Given the description of an element on the screen output the (x, y) to click on. 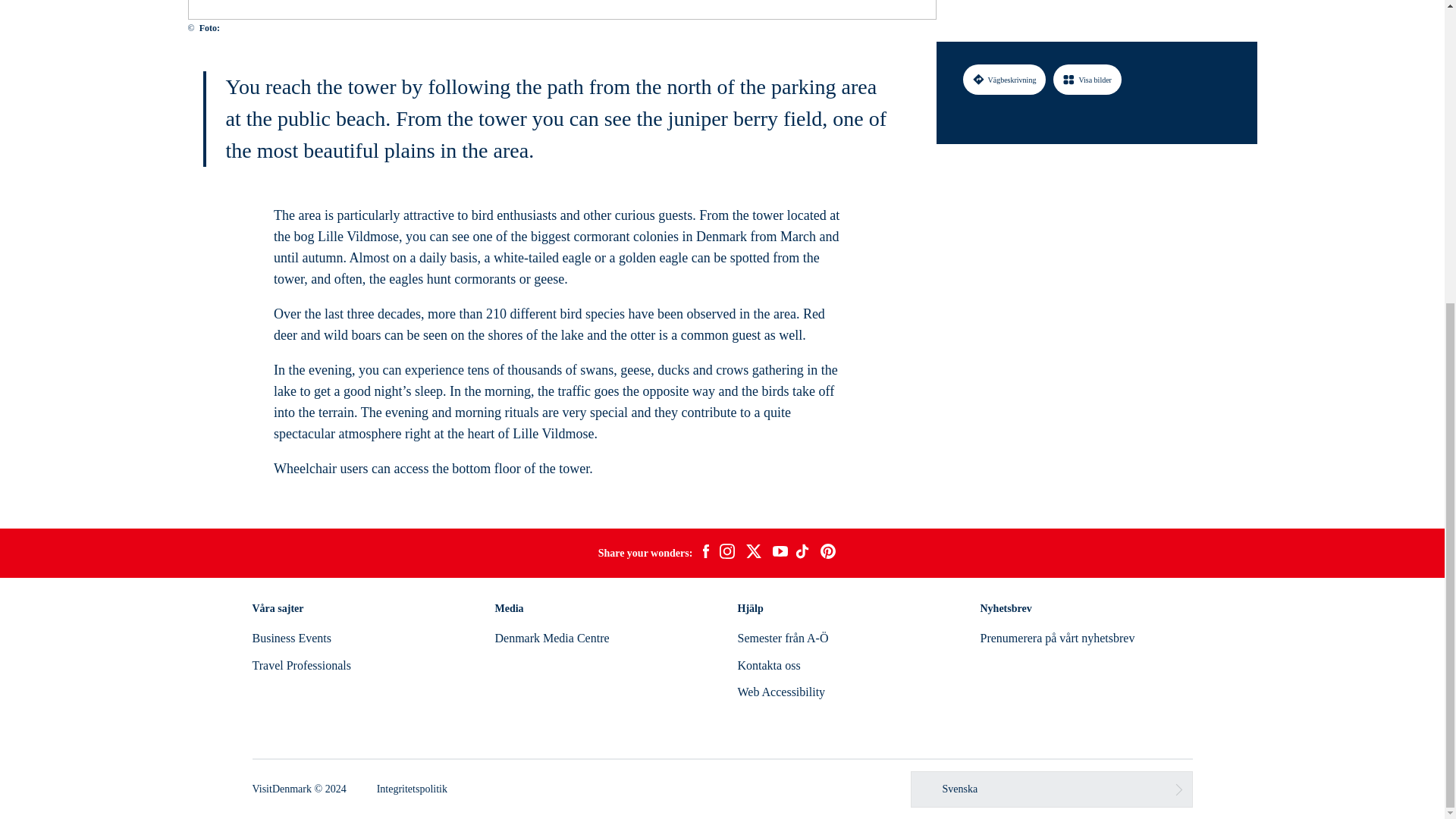
youtube (780, 553)
Integritetspolitik (411, 789)
Denmark Media Centre (551, 637)
tiktok (804, 553)
twitter (753, 553)
Web Accessibility (780, 691)
Business Events (290, 637)
pinterest (828, 553)
instagram (726, 553)
Denmark Media Centre (551, 637)
Travel Professionals (300, 665)
Kontakta oss (767, 665)
facebook (705, 553)
Kontakta oss (767, 665)
Business Events (290, 637)
